Given the description of an element on the screen output the (x, y) to click on. 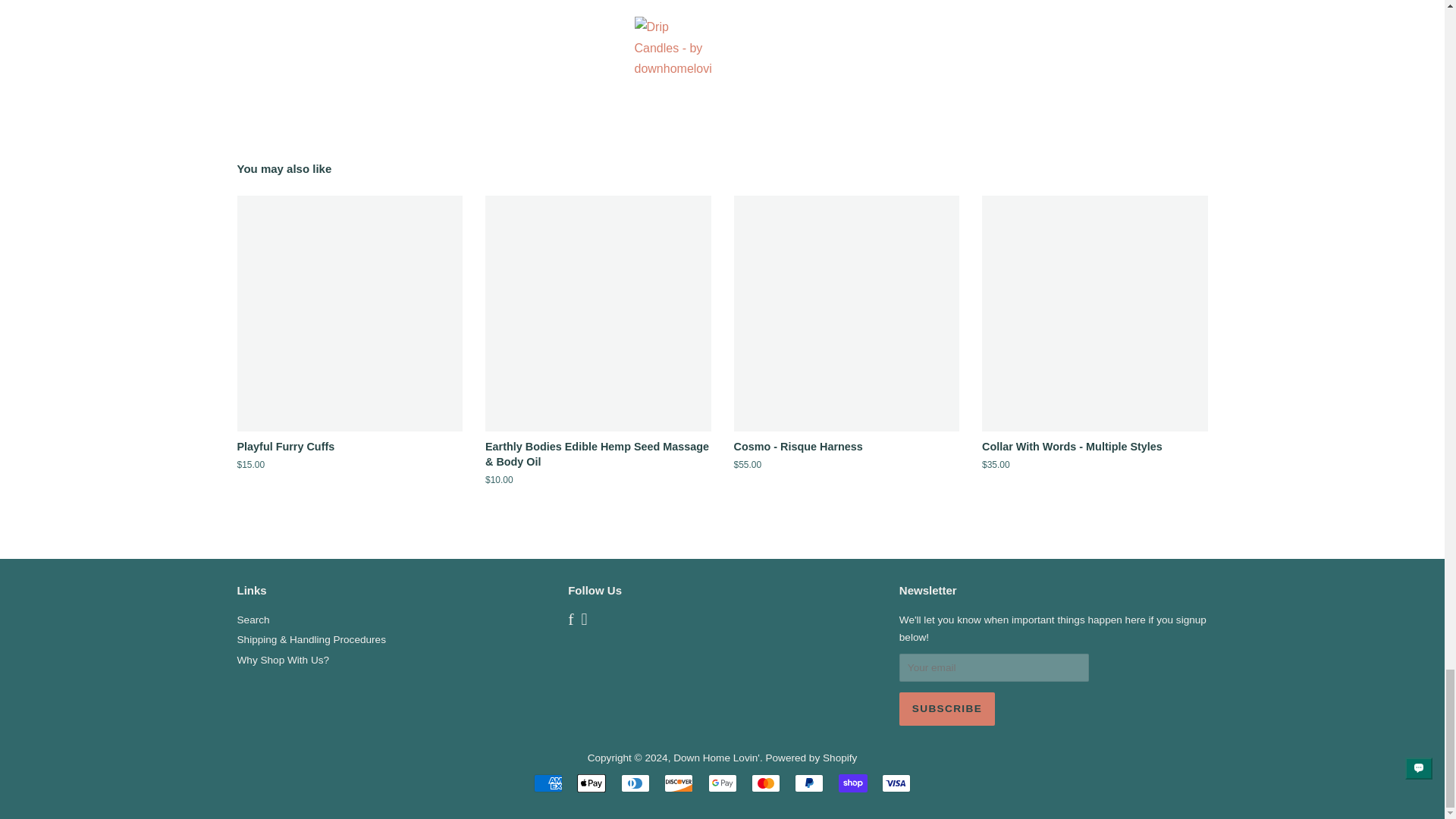
Discover (678, 782)
Apple Pay (590, 782)
PayPal (809, 782)
Shop Pay (852, 782)
Visa (896, 782)
Diners Club (635, 782)
Mastercard (765, 782)
Google Pay (721, 782)
American Express (548, 782)
Subscribe (946, 708)
